Given the description of an element on the screen output the (x, y) to click on. 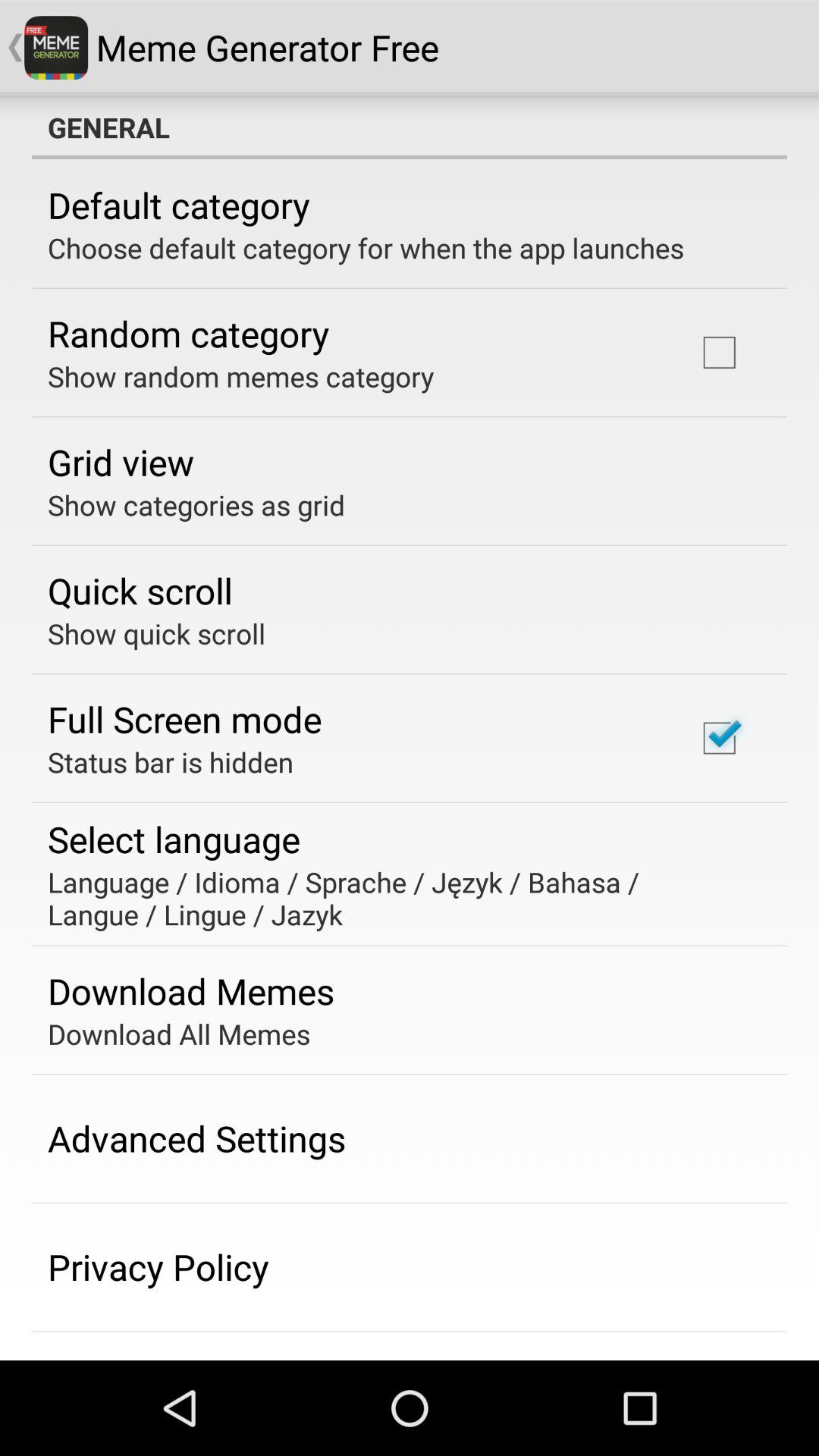
flip until the language idioma sprache item (399, 898)
